Given the description of an element on the screen output the (x, y) to click on. 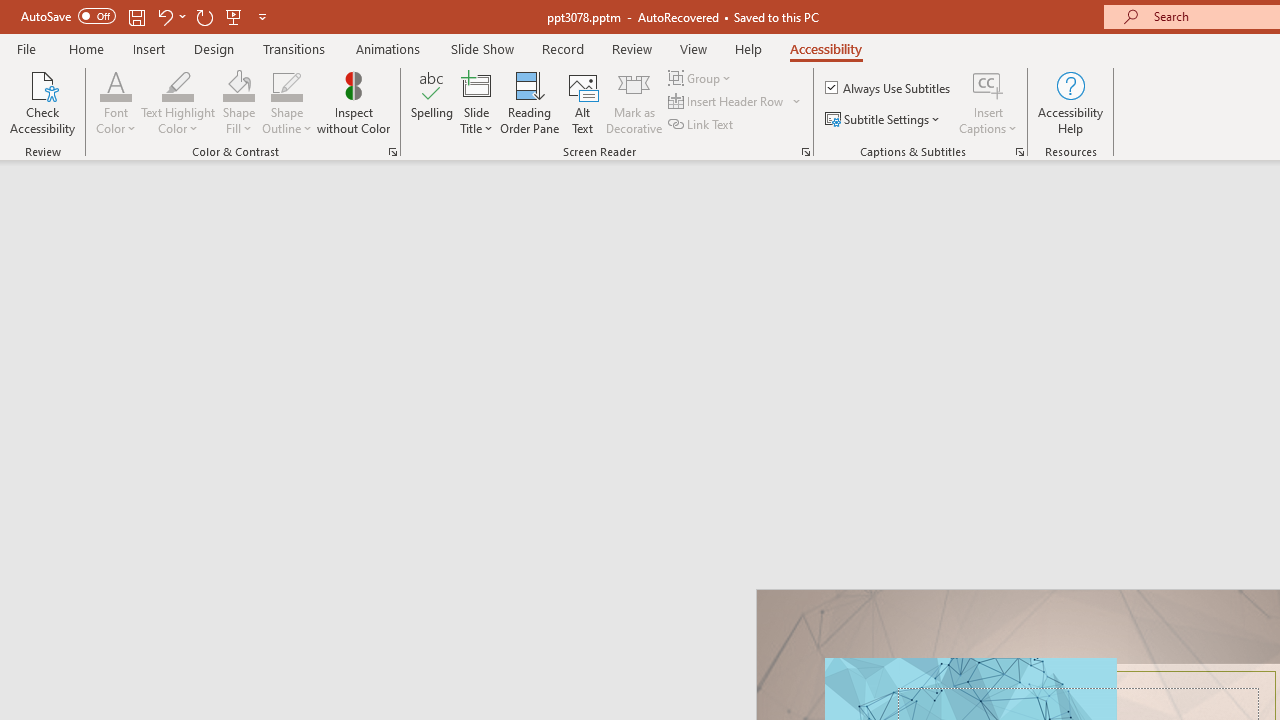
Color & Contrast (392, 151)
Accessibility Help (1070, 102)
